Given the description of an element on the screen output the (x, y) to click on. 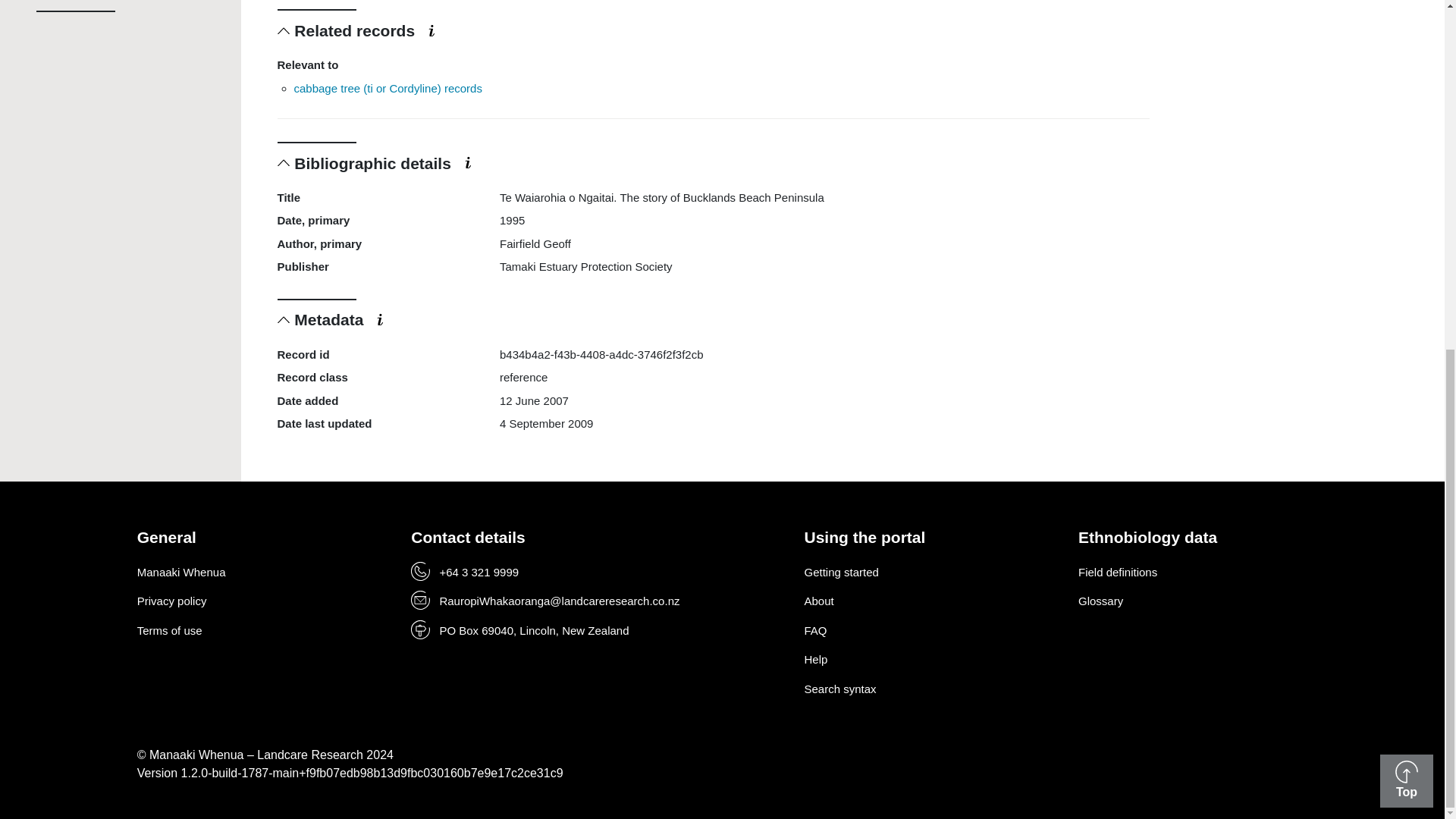
Field definitions (1117, 571)
Privacy policy (171, 600)
FAQ (815, 630)
About (817, 600)
Info (467, 161)
Info (431, 29)
Getting started (840, 571)
Search syntax (839, 688)
Terms of use (169, 630)
Click to collapse (283, 318)
